Given the description of an element on the screen output the (x, y) to click on. 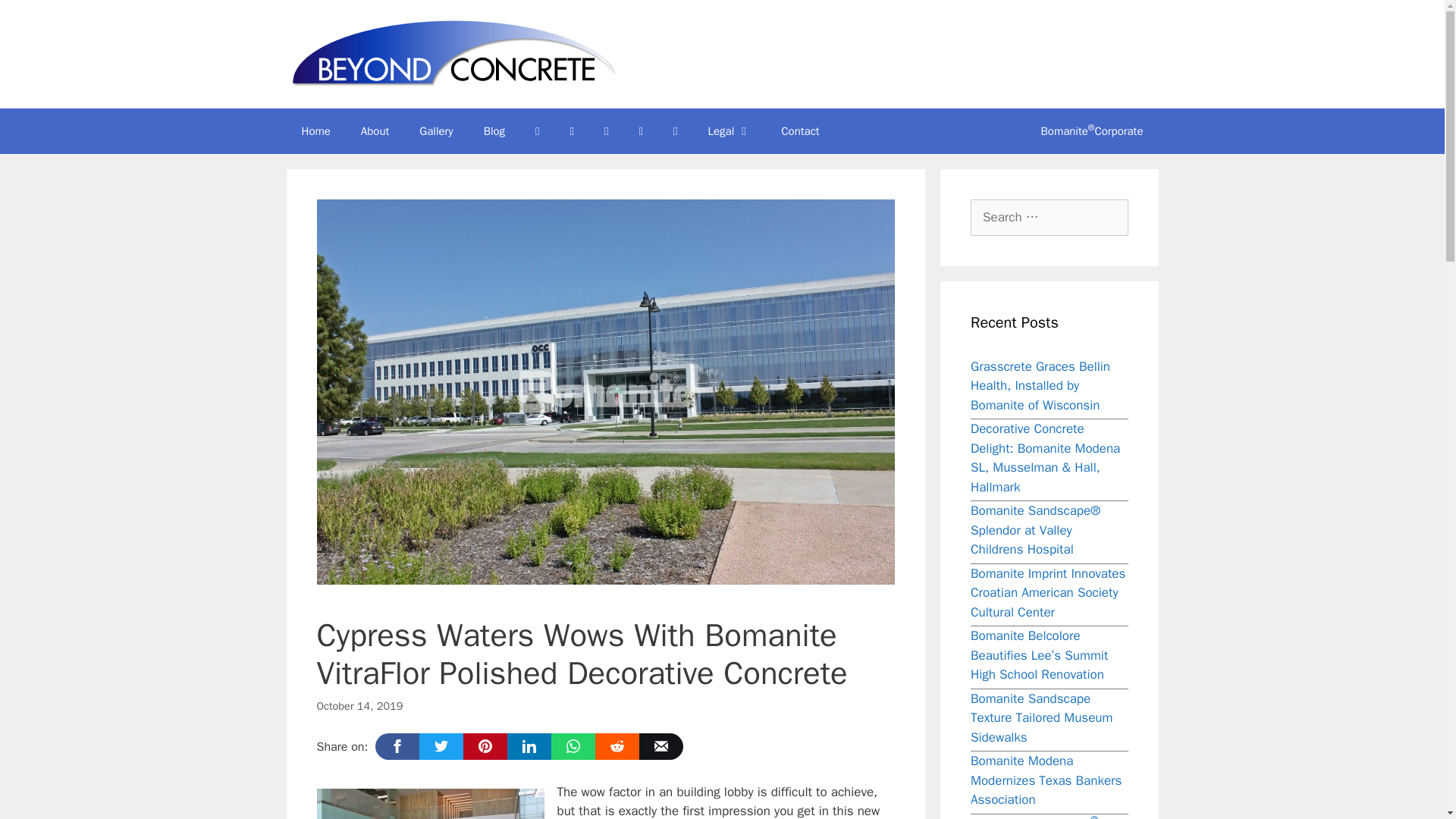
Search for: (1049, 217)
About (375, 130)
Gallery (435, 130)
Legal (730, 130)
Home (316, 130)
Blog (493, 130)
Contact (799, 130)
